Given the description of an element on the screen output the (x, y) to click on. 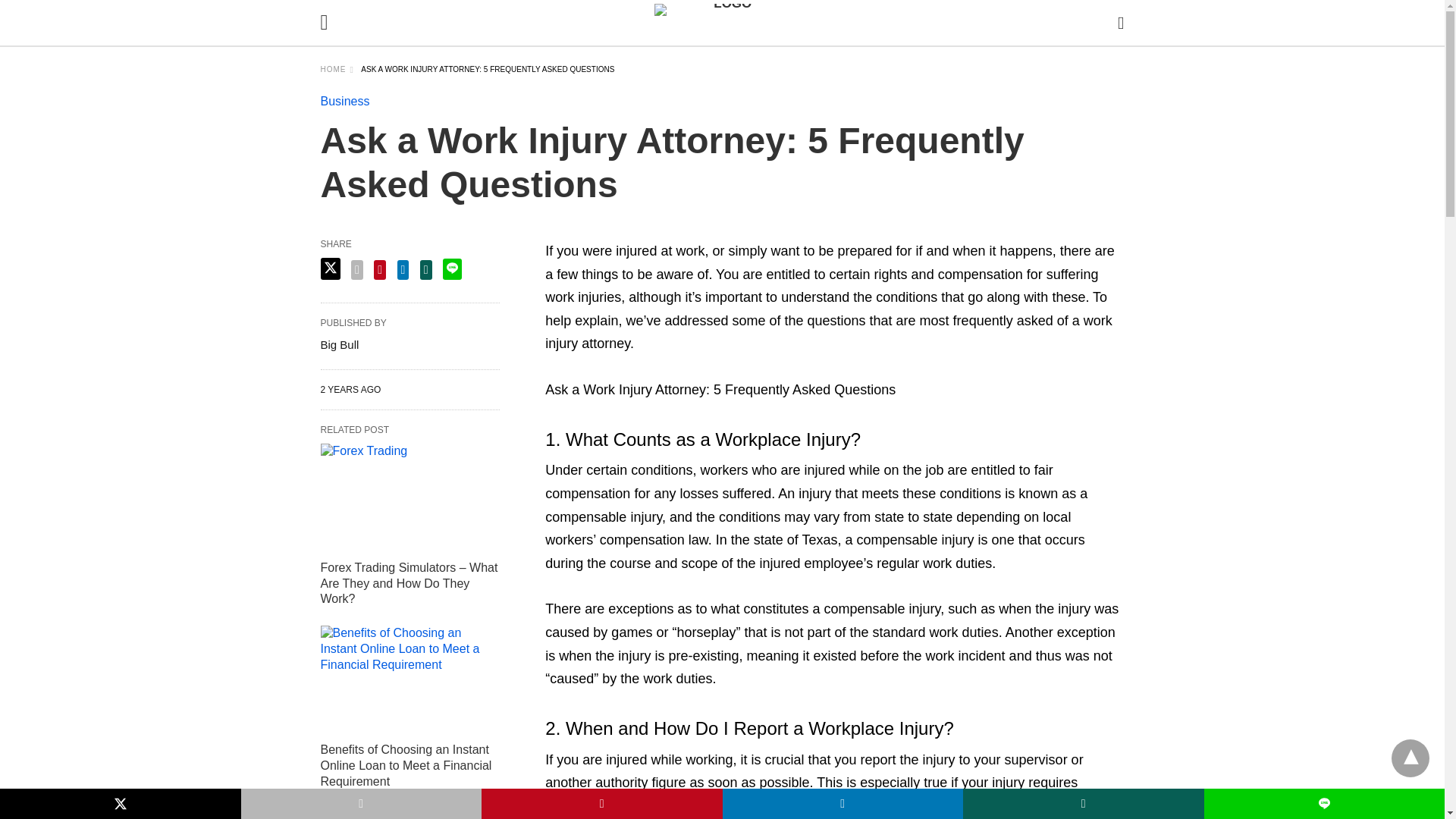
Business (344, 101)
Business (344, 101)
HOME (336, 69)
line share (451, 269)
Business Timenow (725, 22)
